Given the description of an element on the screen output the (x, y) to click on. 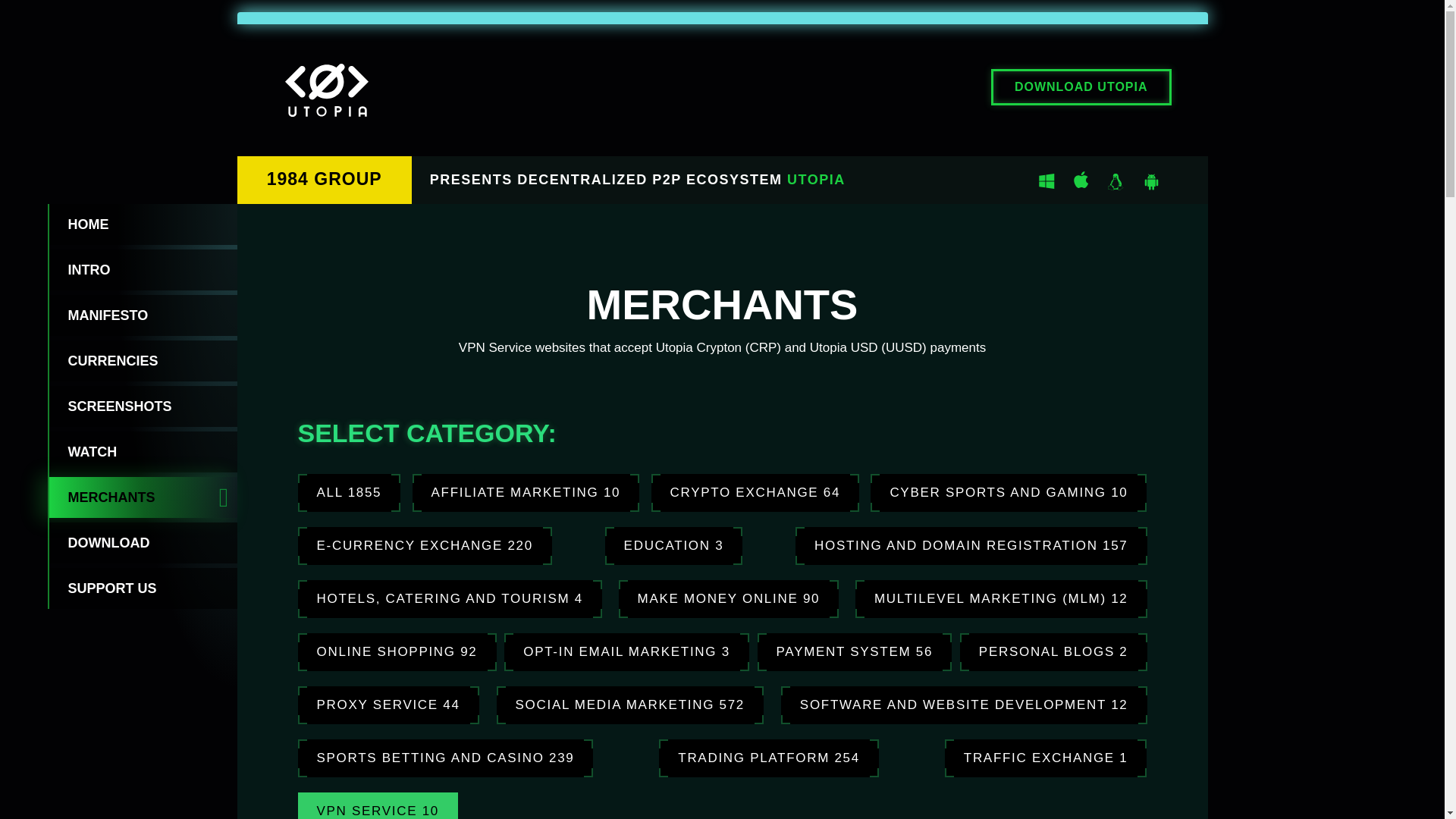
HOME (141, 223)
WATCH (141, 451)
ONLINE SHOPPING 92 (396, 651)
CYBER SPORTS AND GAMING 10 (1008, 492)
SCREENSHOTS (141, 405)
CRYPTO EXCHANGE 64 (754, 492)
UTOPIA for Linux (1109, 178)
UTOPIA for Android (1149, 178)
UTOPIA for macOS (1073, 178)
MERCHANTS (141, 496)
